Given the description of an element on the screen output the (x, y) to click on. 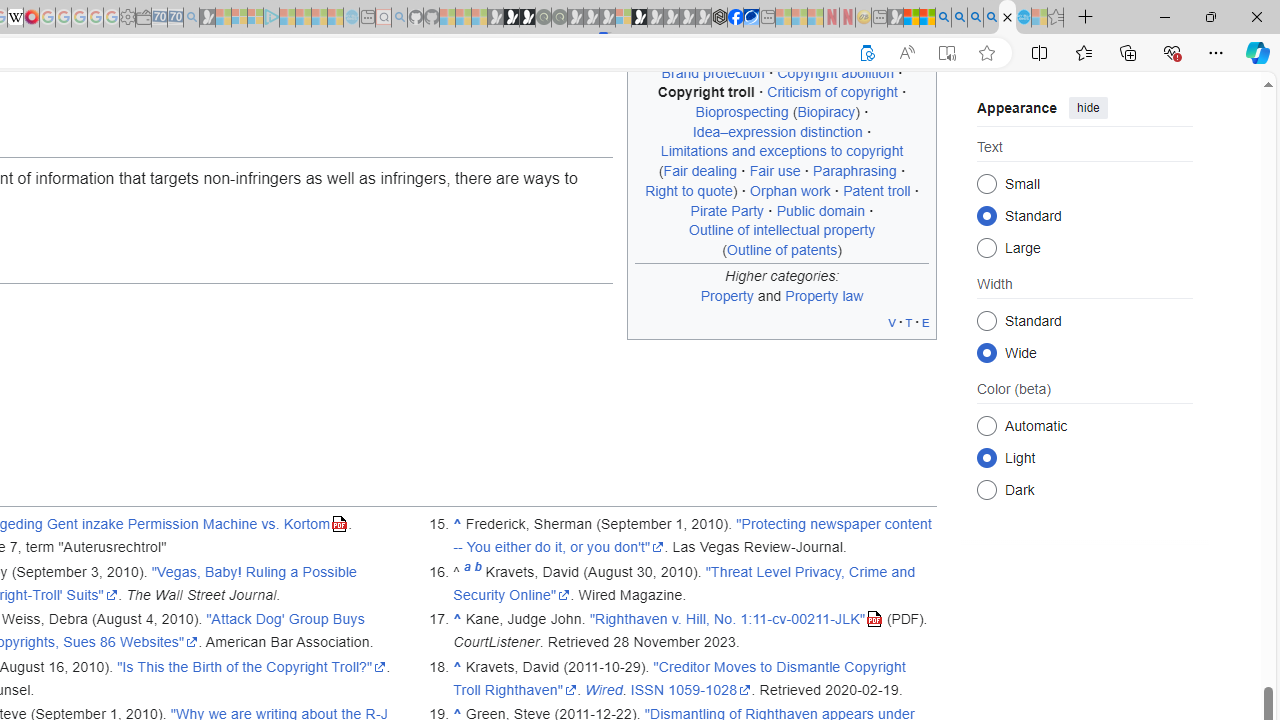
Bioprospecting (741, 111)
MediaWiki (31, 17)
Services - Maintenance | Sky Blue Bikes - Sky Blue Bikes (1023, 17)
